Given the description of an element on the screen output the (x, y) to click on. 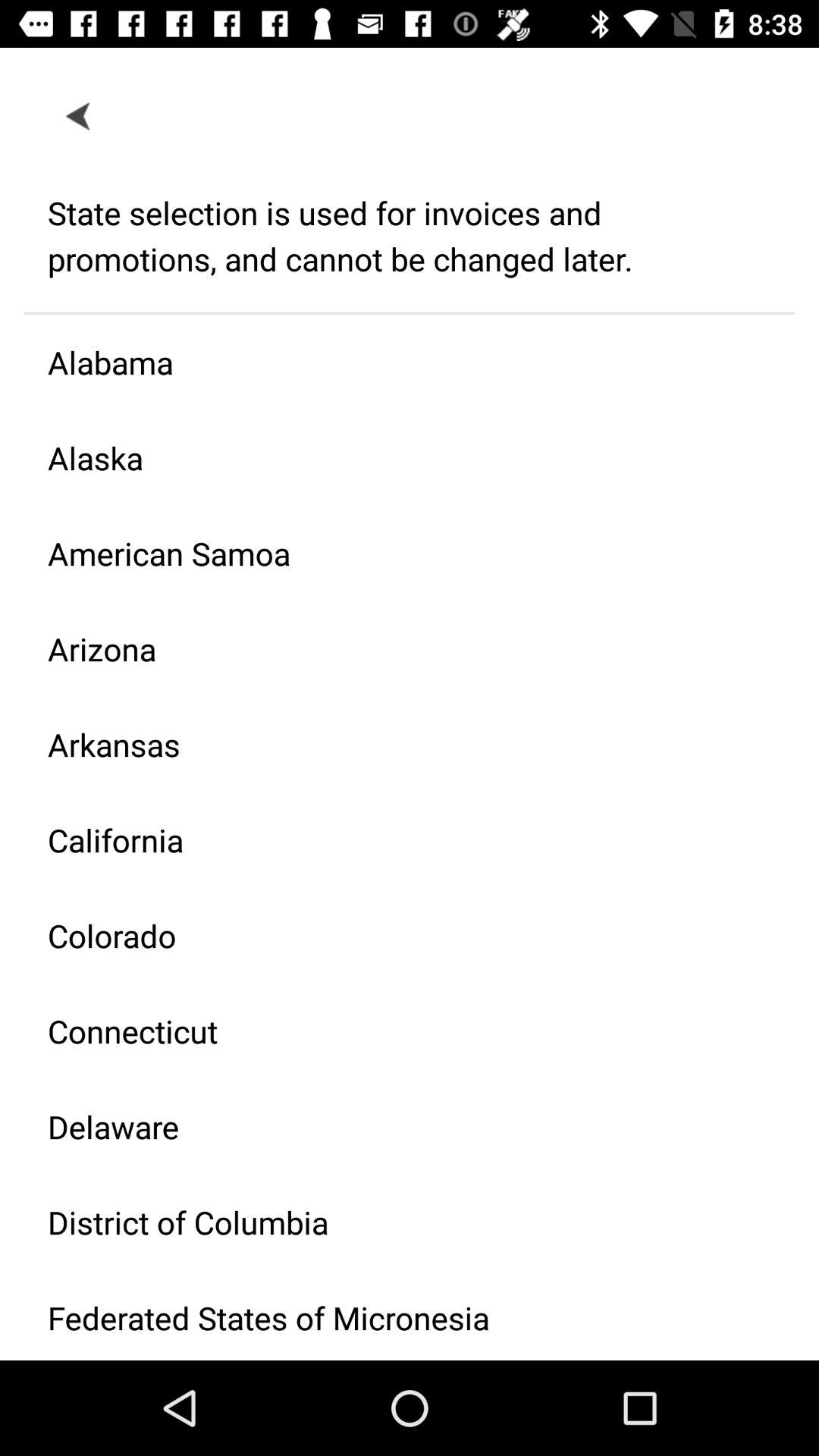
press the california item (397, 839)
